Given the description of an element on the screen output the (x, y) to click on. 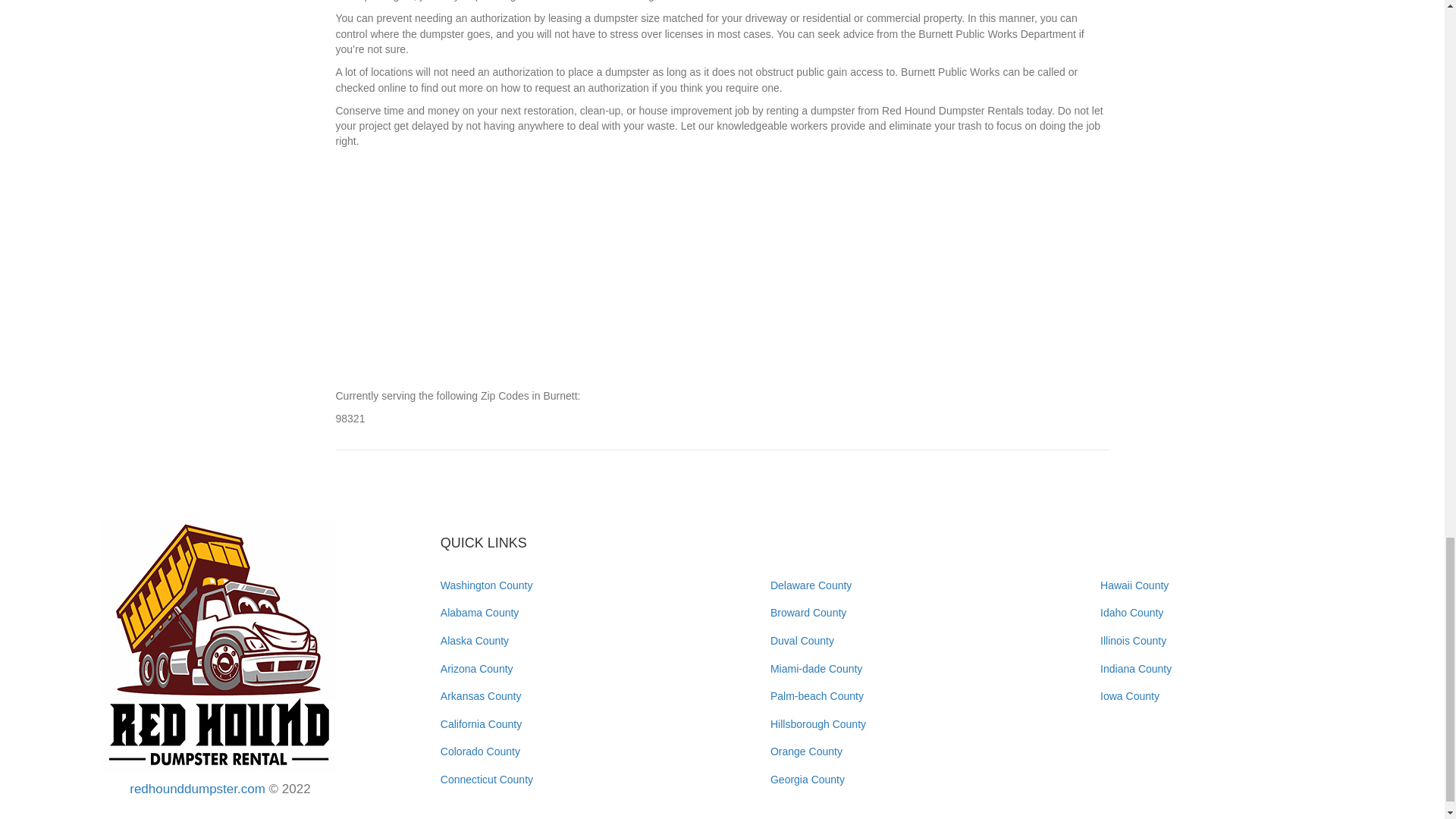
redhounddumpster.com (196, 789)
redhounddumpster (219, 646)
Alabama County (480, 612)
Washington County (486, 585)
